Given the description of an element on the screen output the (x, y) to click on. 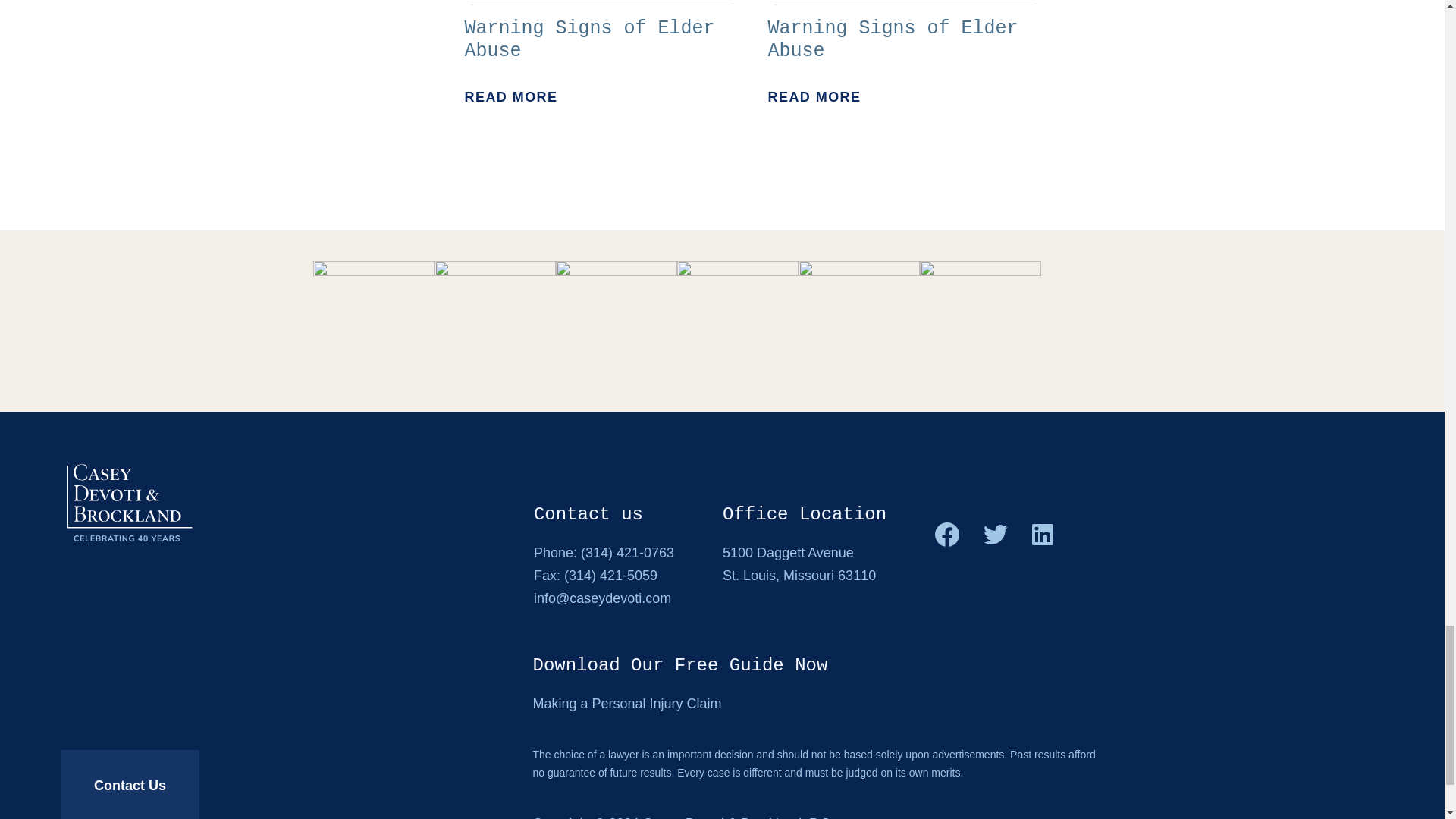
linkedin (1042, 534)
twitter (995, 534)
facebook (600, 54)
